Given the description of an element on the screen output the (x, y) to click on. 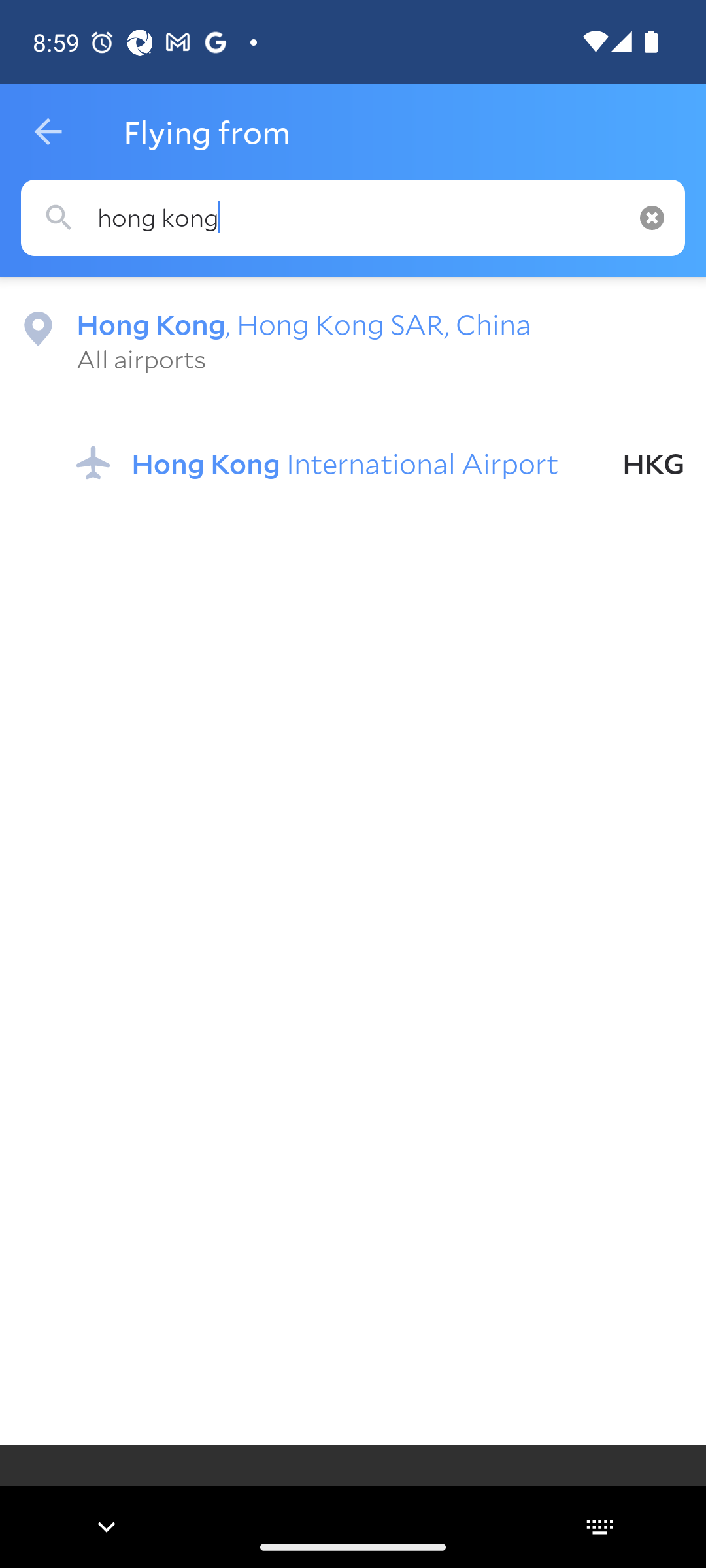
Navigate up (48, 131)
hong kong (352, 217)
Hong Kong, Hong Kong SAR, China All airports (353, 339)
Hong Kong International Airport HKG (380, 462)
